Given the description of an element on the screen output the (x, y) to click on. 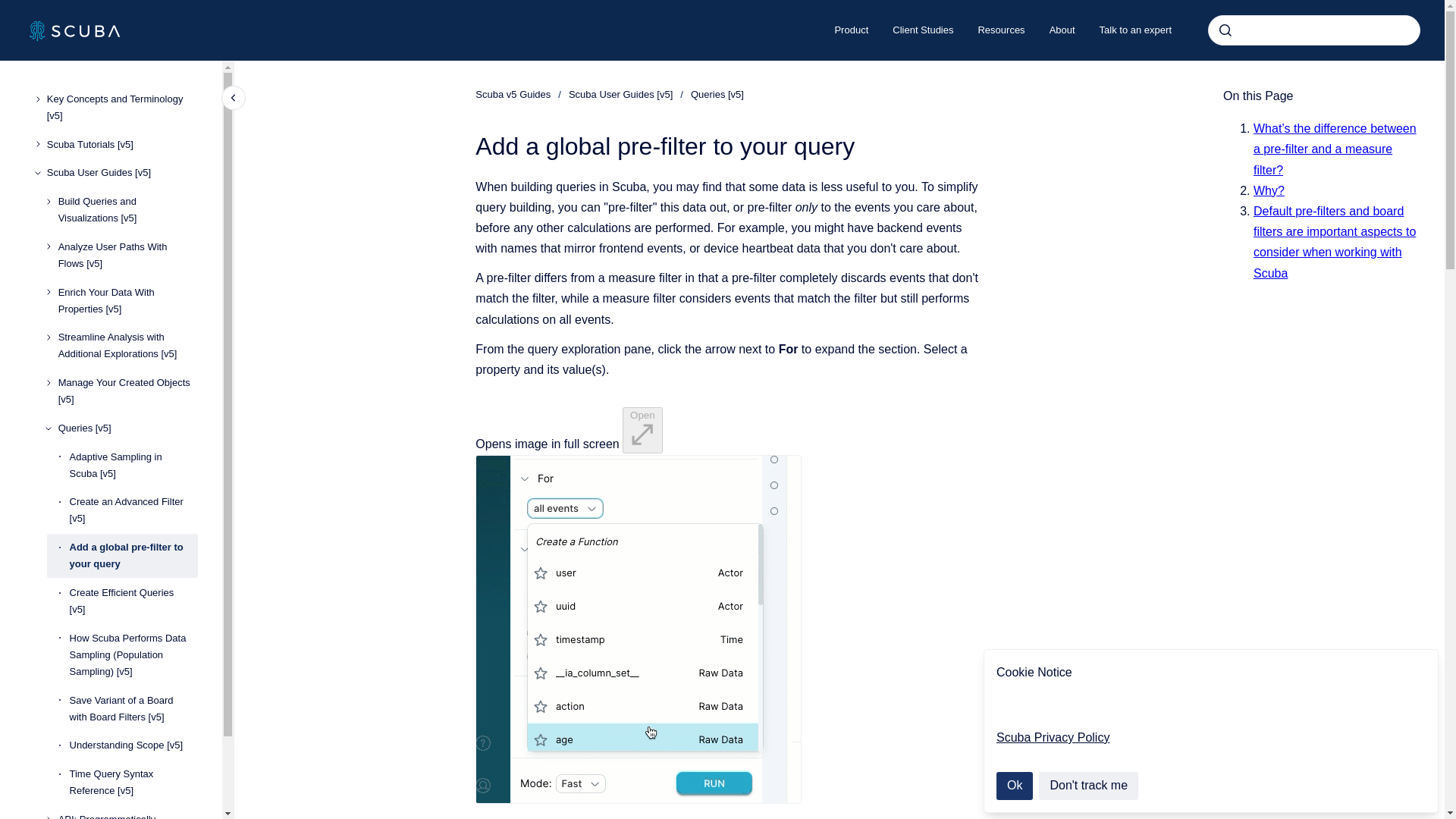
Go to homepage (74, 30)
Talk to an expert (1135, 29)
Client Studies (922, 29)
Don't track me (1088, 786)
Ok (1013, 786)
Product (851, 29)
Add a global pre-filter to your query (133, 555)
Resources (1000, 29)
About (1061, 29)
Scuba Privacy Policy (1052, 737)
